Given the description of an element on the screen output the (x, y) to click on. 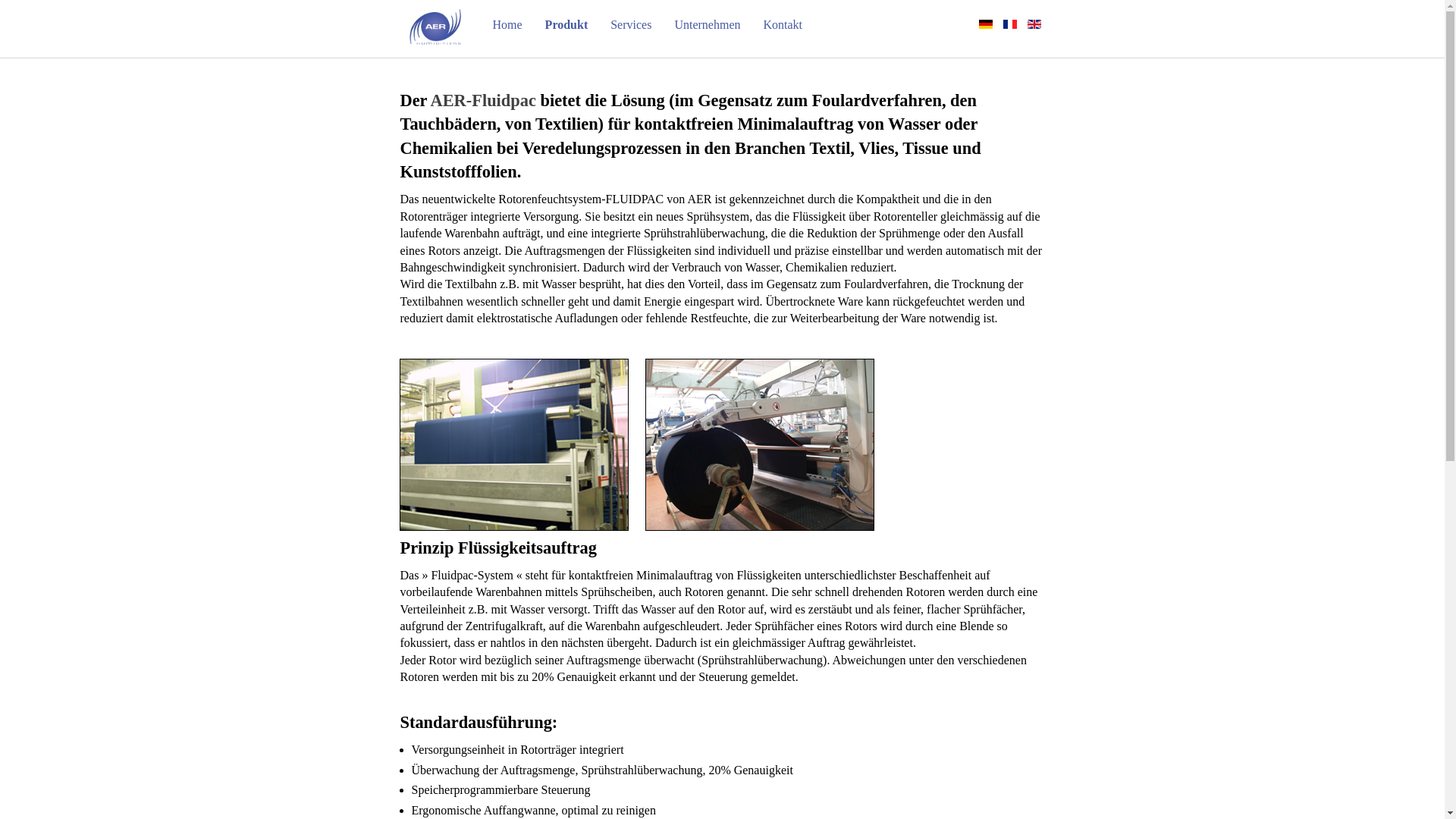
English (United Kingdom) Element type: hover (1033, 23)
Kontakt Element type: text (782, 24)
AER Humidifiers Element type: hover (435, 26)
Home Element type: text (507, 24)
Services Element type: text (630, 24)
Unternehmen Element type: text (707, 24)
Deutsch (Deutschland) Element type: hover (984, 23)
Produkt Element type: text (566, 24)
